Given the description of an element on the screen output the (x, y) to click on. 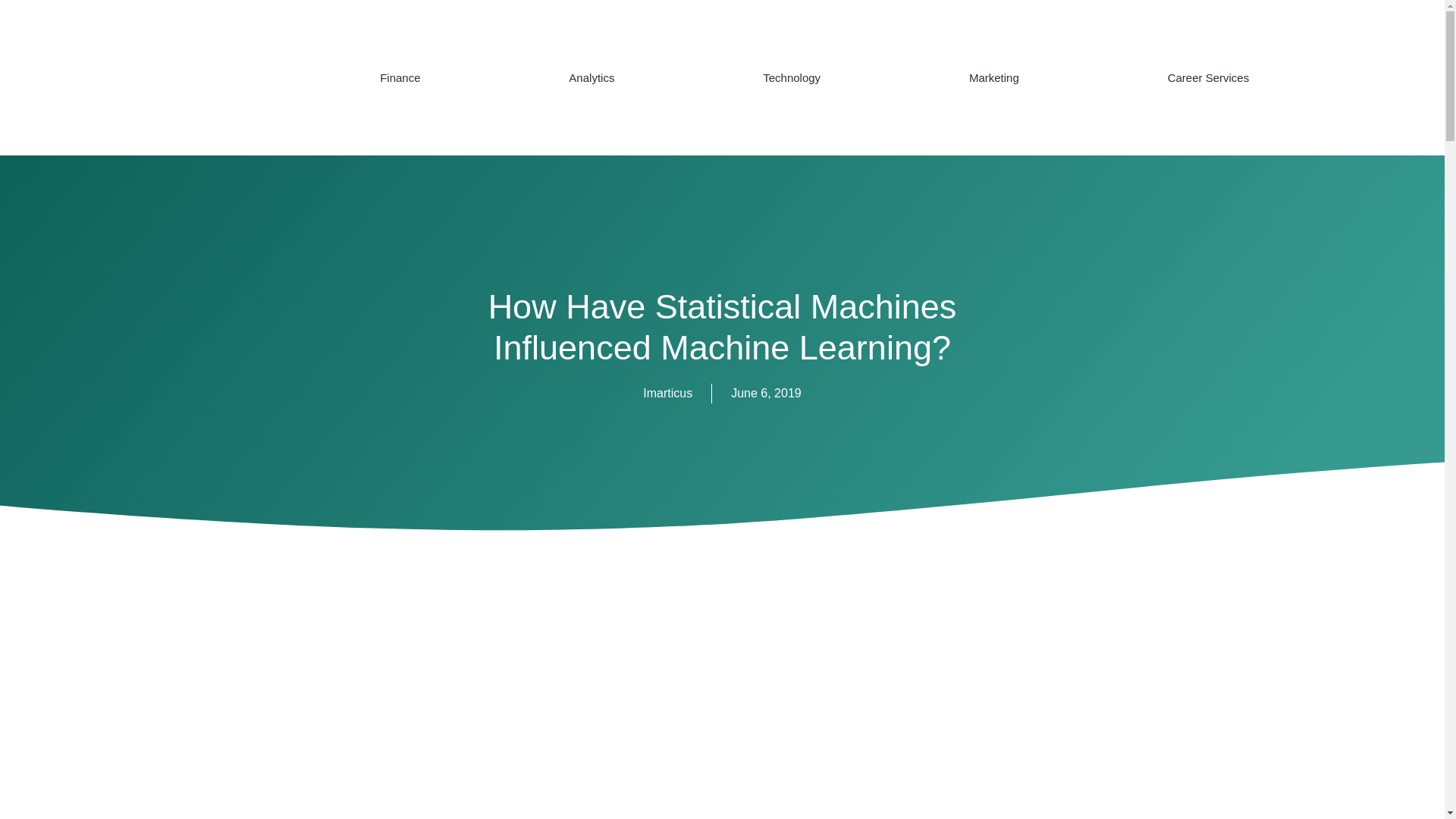
Finance (400, 77)
Technology (791, 77)
Marketing (994, 77)
Career Services (1208, 77)
June 6, 2019 (766, 393)
Analytics (591, 77)
Imarticus (668, 393)
